Given the description of an element on the screen output the (x, y) to click on. 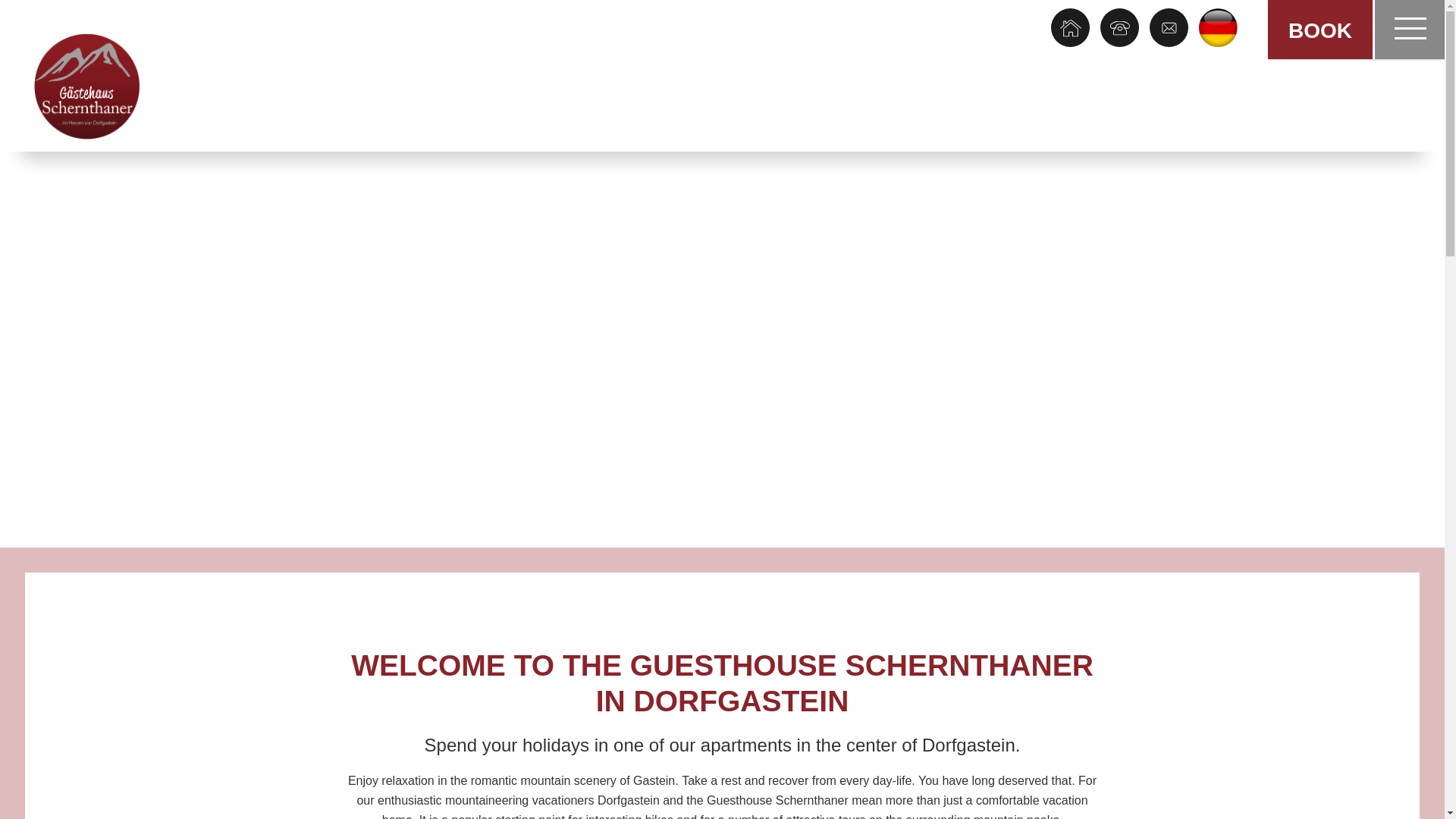
BOOK (1320, 29)
